Given the description of an element on the screen output the (x, y) to click on. 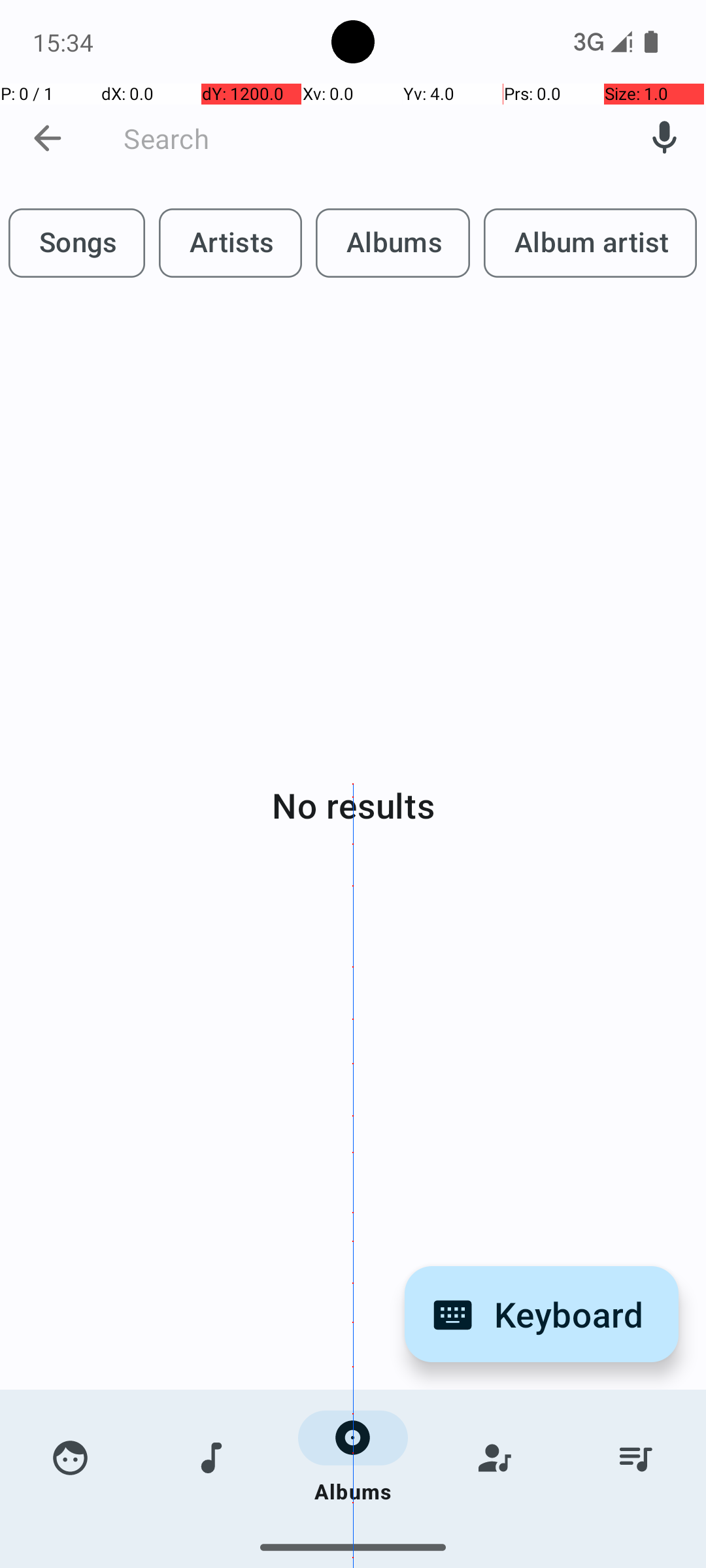
No results Element type: android.widget.TextView (352, 805)
Keyboard Element type: android.widget.Button (541, 1314)
Album artist Element type: android.widget.RadioButton (589, 242)
